Given the description of an element on the screen output the (x, y) to click on. 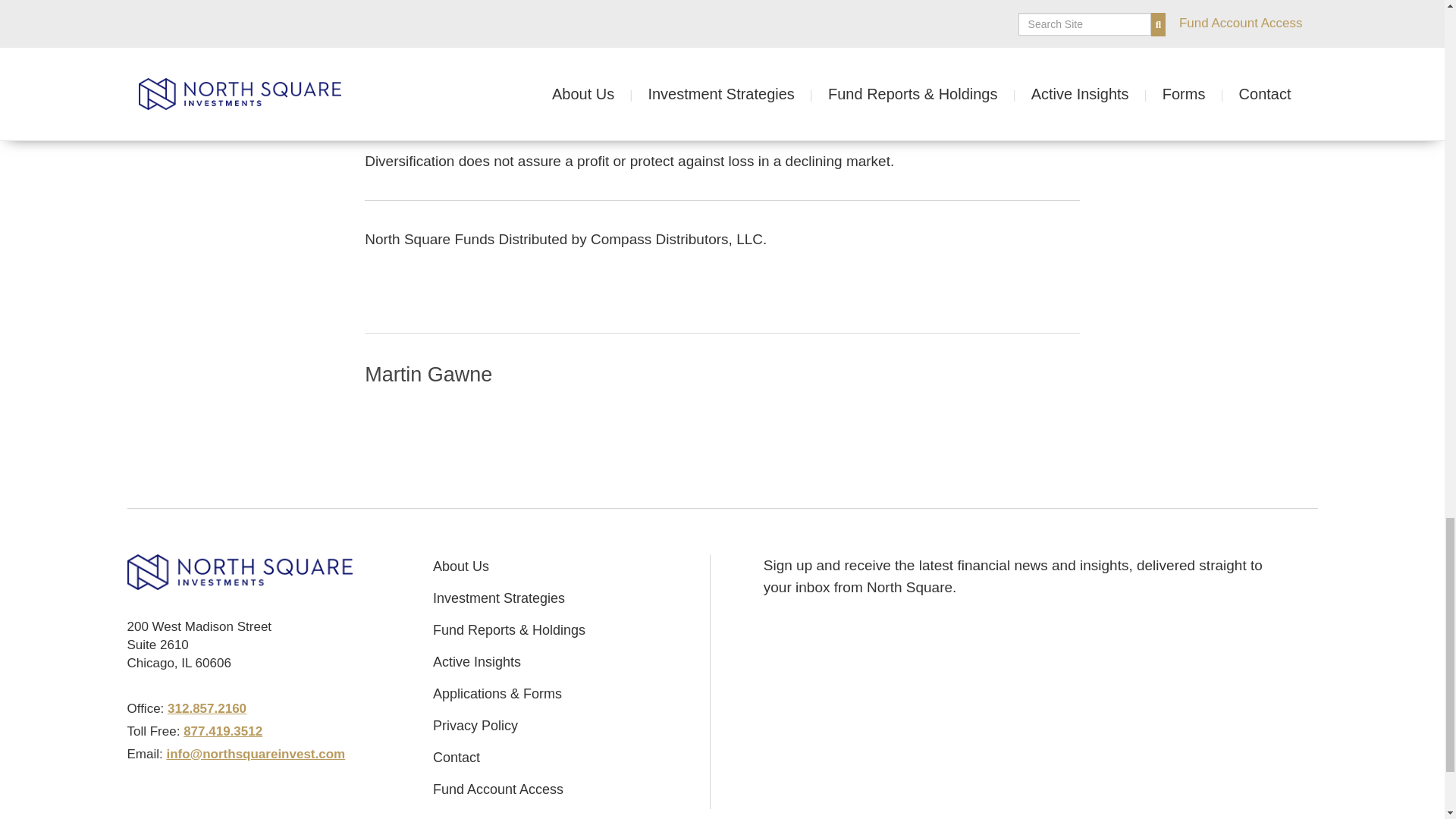
Active Insights (476, 662)
Fund Account Access (497, 789)
please click here. (822, 82)
877.419.3512 (222, 730)
Privacy Policy (475, 725)
Investment Strategies (498, 598)
About Us (460, 566)
Contact (456, 757)
312.857.2160 (206, 708)
